Given the description of an element on the screen output the (x, y) to click on. 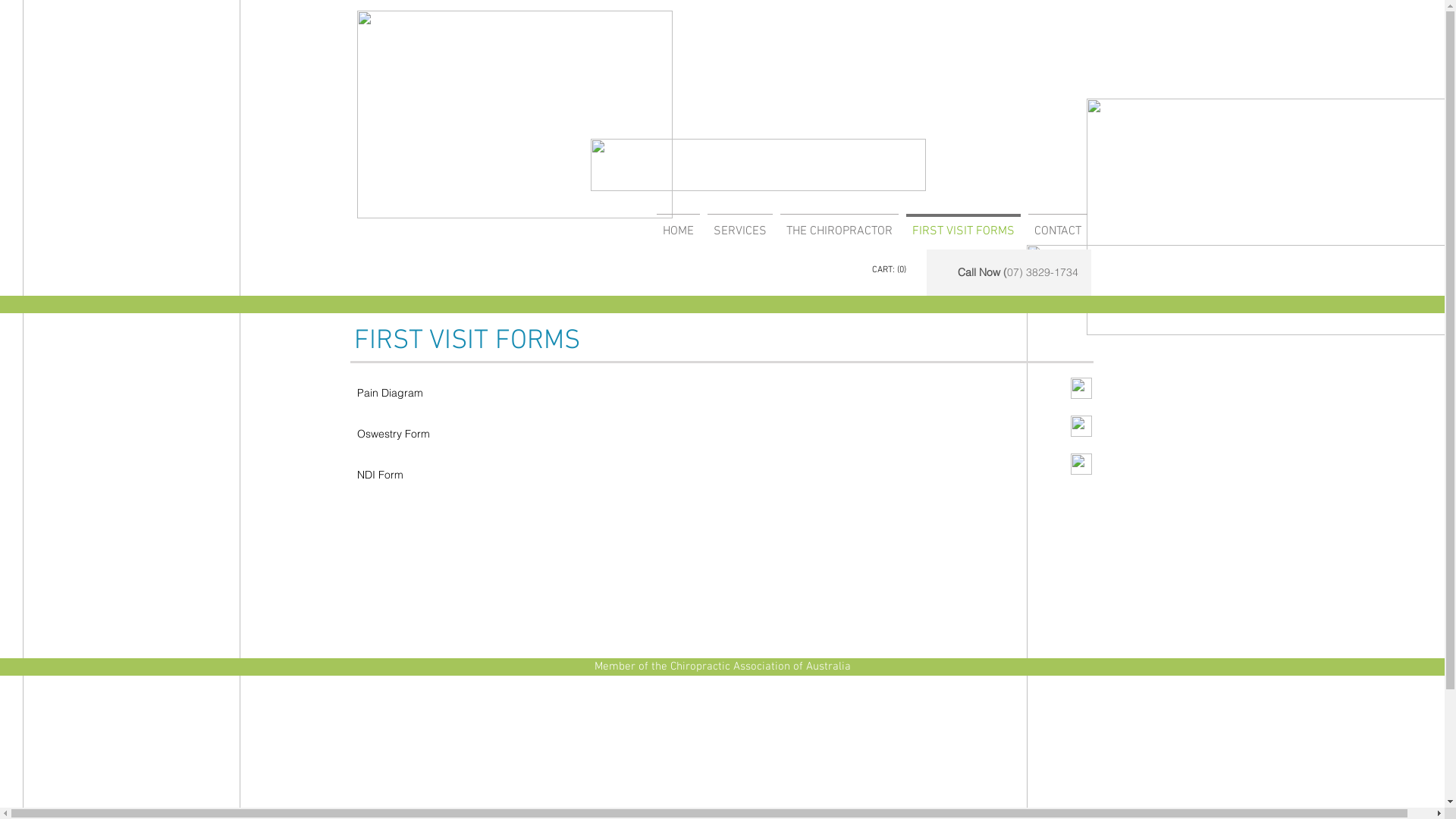
Oswestry Form Element type: text (392, 433)
SERVICES Element type: text (739, 224)
CONTACT Element type: text (1056, 224)
NDI Form Element type: text (379, 474)
Pain Diagram Element type: text (389, 392)
CART: (0) Element type: text (891, 268)
FIRST VISIT FORMS Element type: text (963, 224)
HOME Element type: text (677, 224)
THE CHIROPRACTOR Element type: text (839, 224)
